Given the description of an element on the screen output the (x, y) to click on. 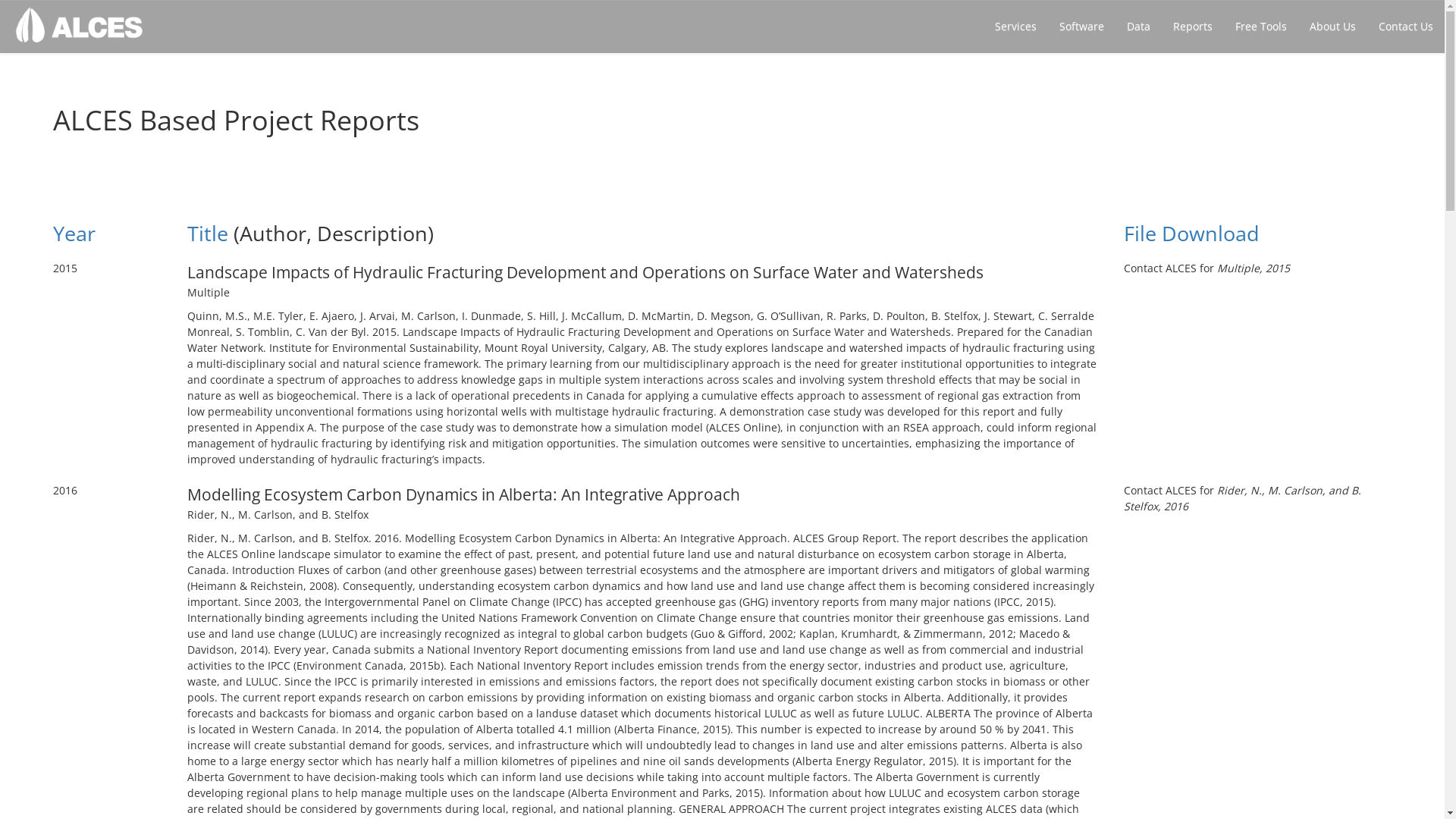
Reports Element type: text (1192, 26)
Services Element type: text (1015, 26)
About Us Element type: text (1332, 26)
File Download Element type: text (1191, 233)
Data Element type: text (1138, 26)
Free Tools Element type: text (1260, 26)
Year Element type: text (74, 233)
Title Element type: text (206, 233)
Contact Us Element type: text (1405, 26)
Software Element type: text (1081, 26)
